Given the description of an element on the screen output the (x, y) to click on. 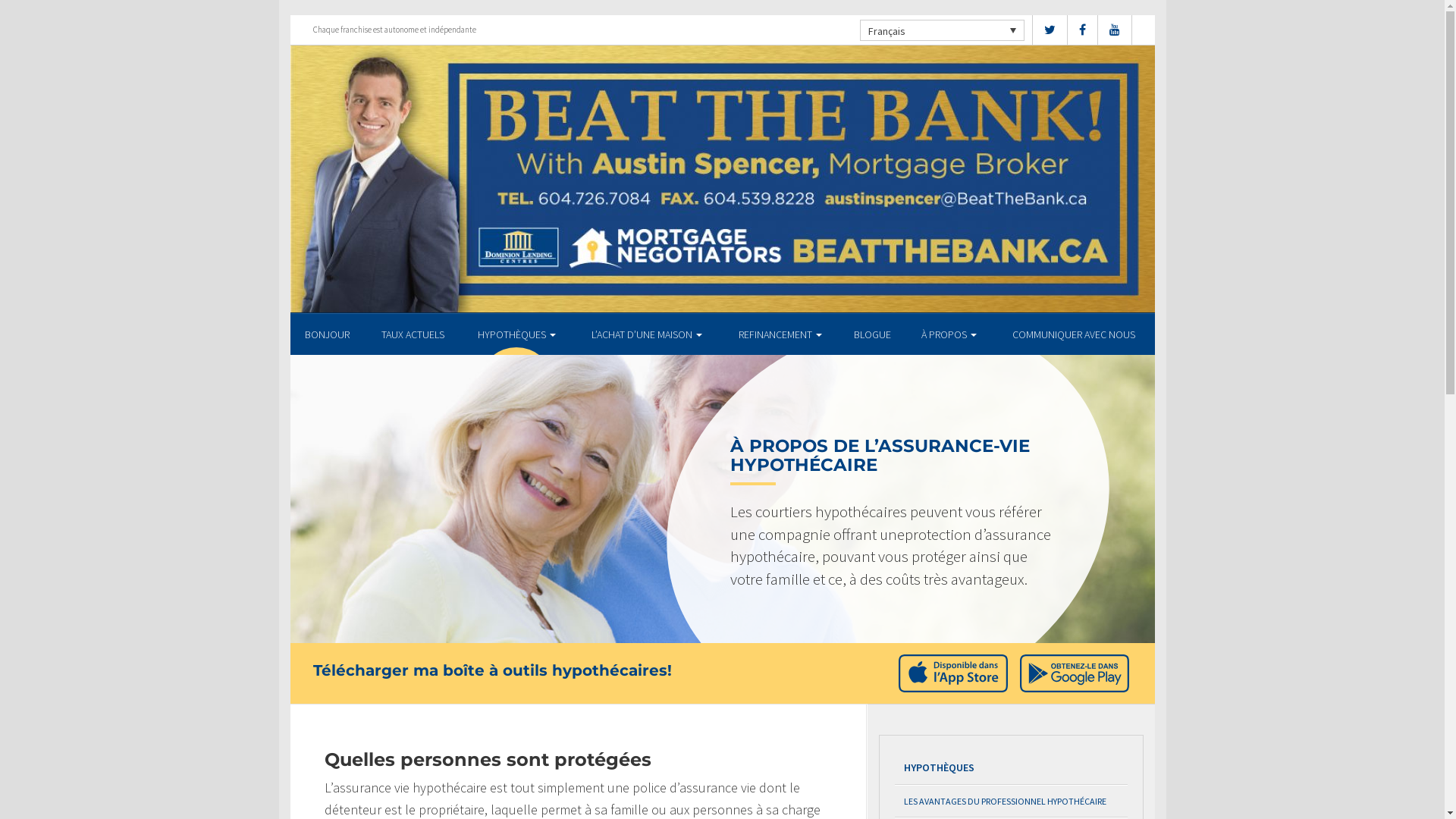
TAUX ACTUELS Element type: text (412, 333)
COMMUNIQUER AVEC NOUS Element type: text (1073, 333)
BONJOUR Element type: text (326, 333)
BLOGUE Element type: text (872, 333)
REFINANCEMENT Element type: text (780, 333)
